Given the description of an element on the screen output the (x, y) to click on. 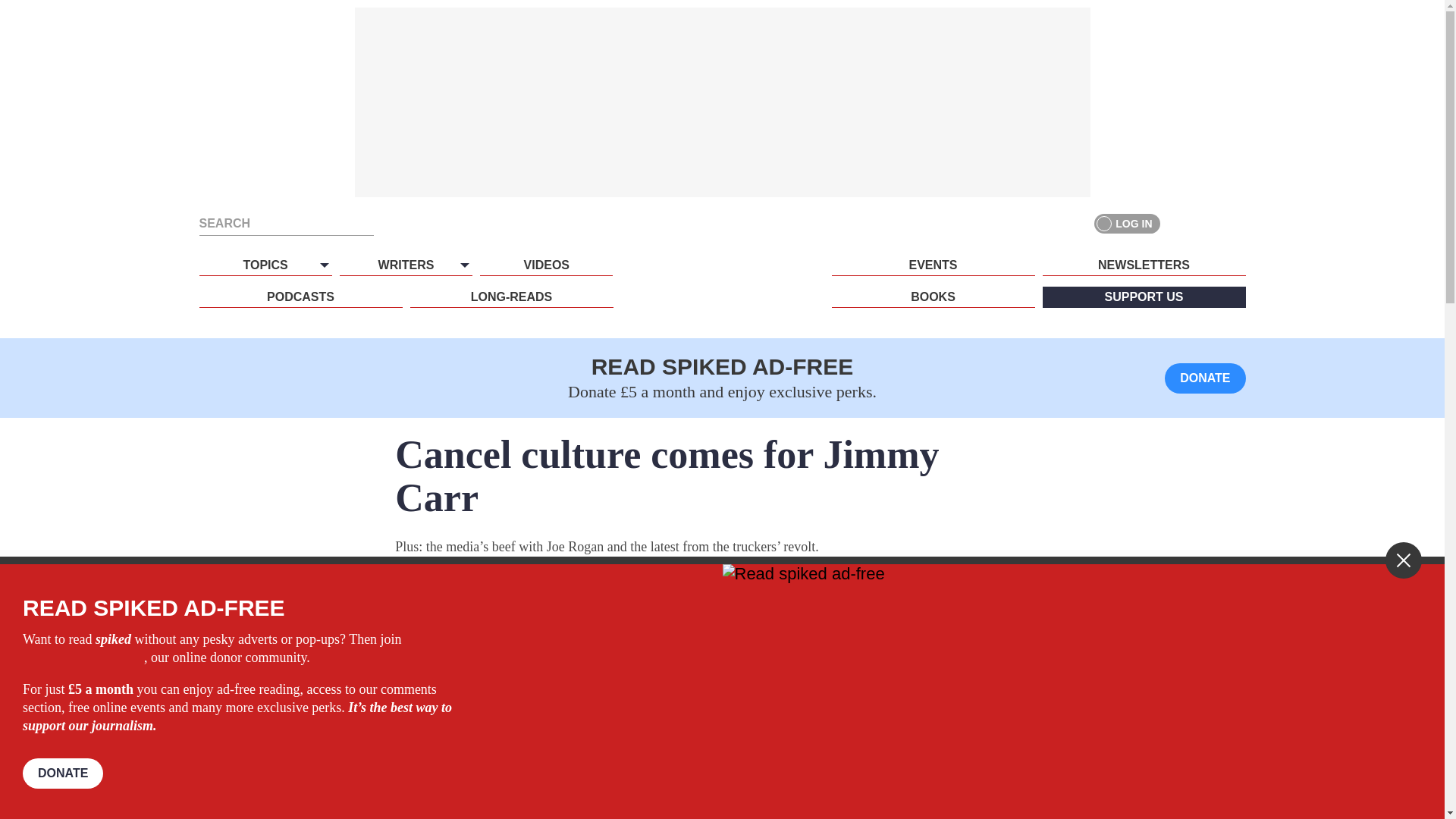
TOPICS (264, 265)
Twitter (1207, 223)
YouTube (1234, 223)
PODCASTS (299, 296)
Facebook (1180, 223)
LONG-READS (510, 296)
SUPPORT US (1143, 296)
NEWSLETTERS (1143, 265)
EVENTS (932, 265)
WRITERS (405, 265)
